Given the description of an element on the screen output the (x, y) to click on. 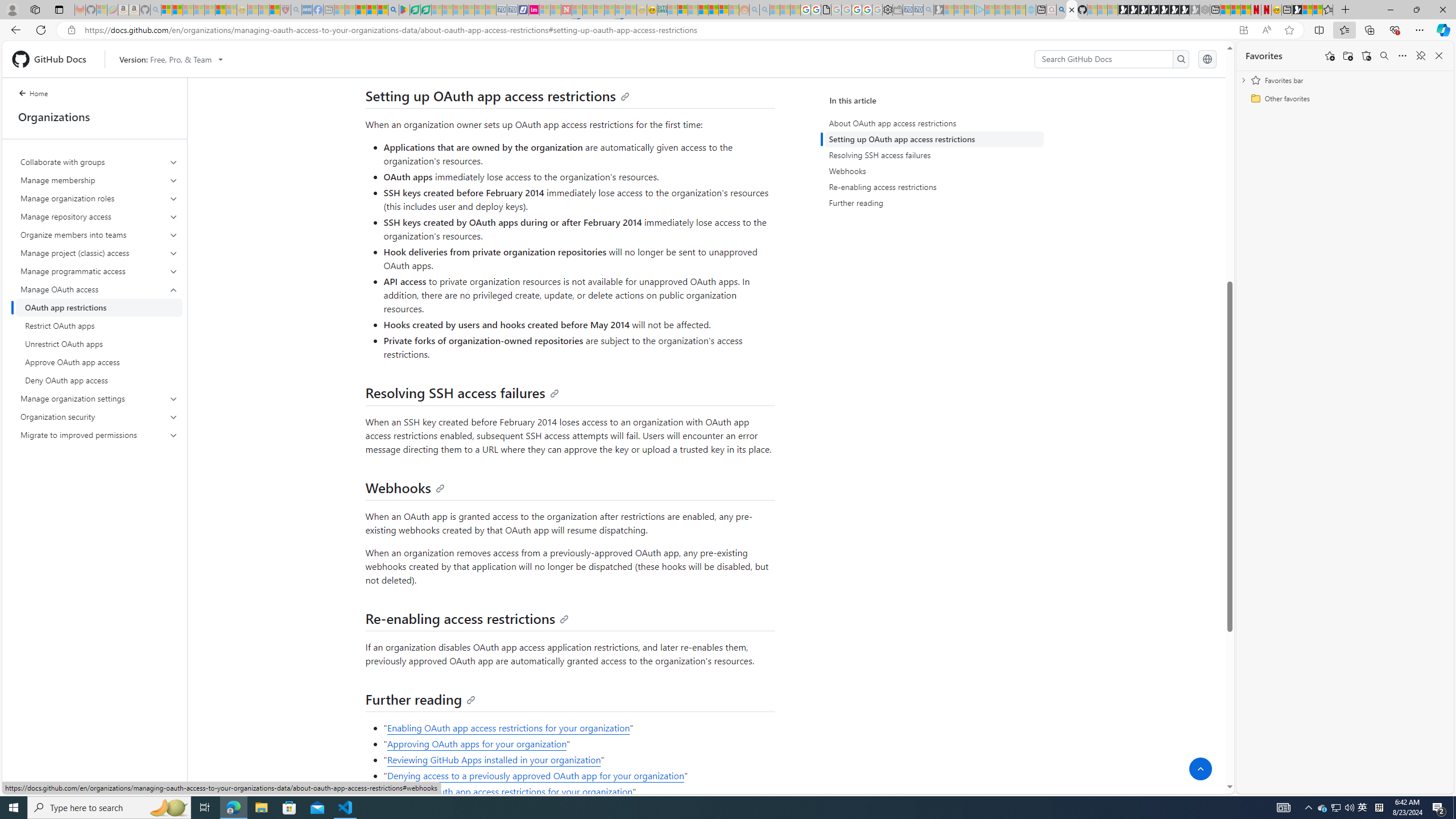
Further reading (933, 202)
Collaborate with groups (99, 162)
Manage programmatic access (99, 271)
Close favorites (1439, 55)
Migrate to improved permissions (99, 434)
Manage OAuth access (99, 289)
Pets - MSN (371, 9)
